Given the description of an element on the screen output the (x, y) to click on. 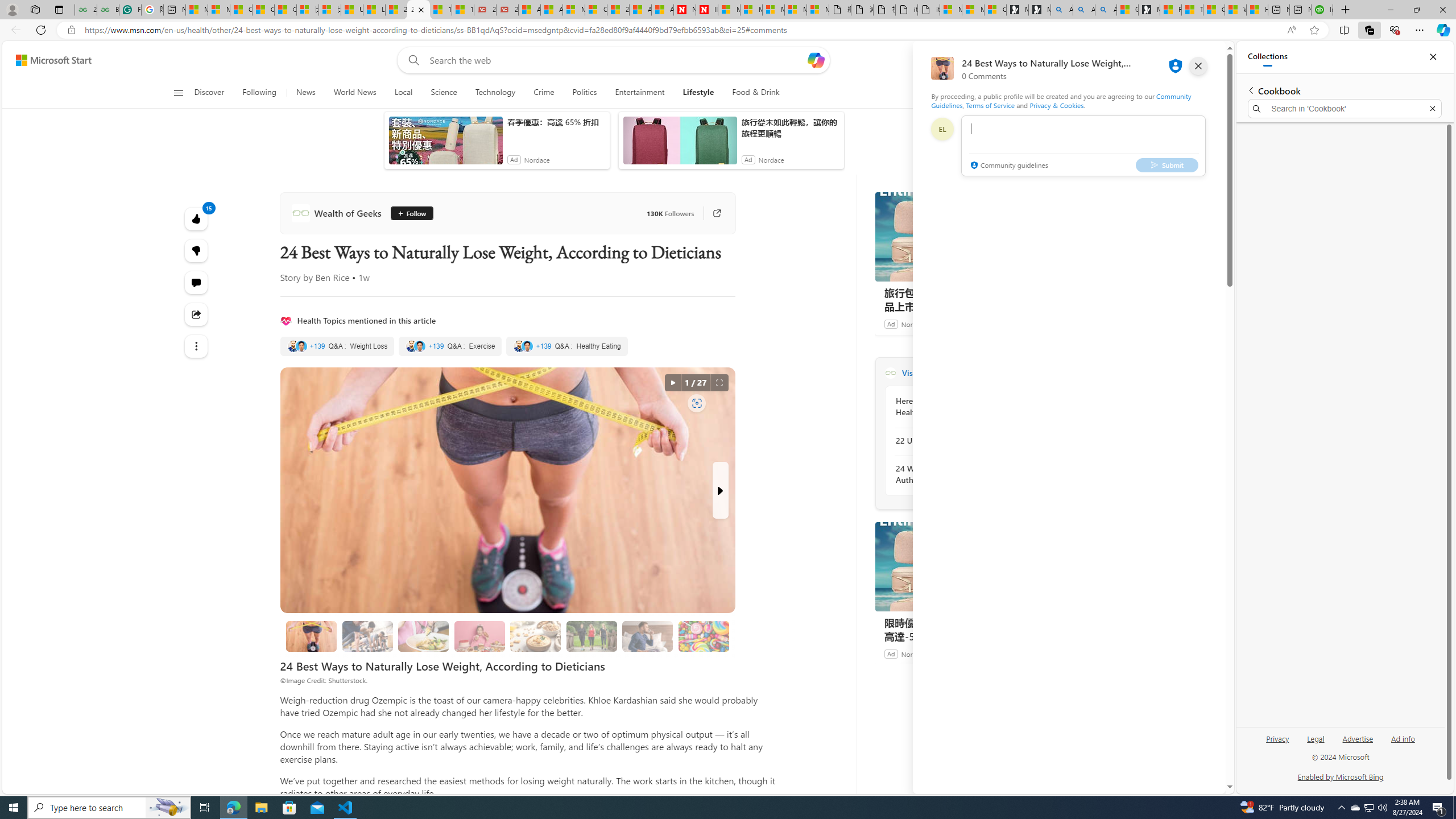
itconcepthk.com/projector_solutions.mp4 (928, 9)
6. Drink Water Before Meals (646, 636)
Wealth of Geeks (338, 212)
25 Basic Linux Commands For Beginners - GeeksforGeeks (85, 9)
24. Walking (591, 636)
Intuit QuickBooks Online - Quickbooks (1322, 9)
Next Slide (719, 489)
15 (196, 250)
Free AI Writing Assistance for Students | Grammarly (130, 9)
